Given the description of an element on the screen output the (x, y) to click on. 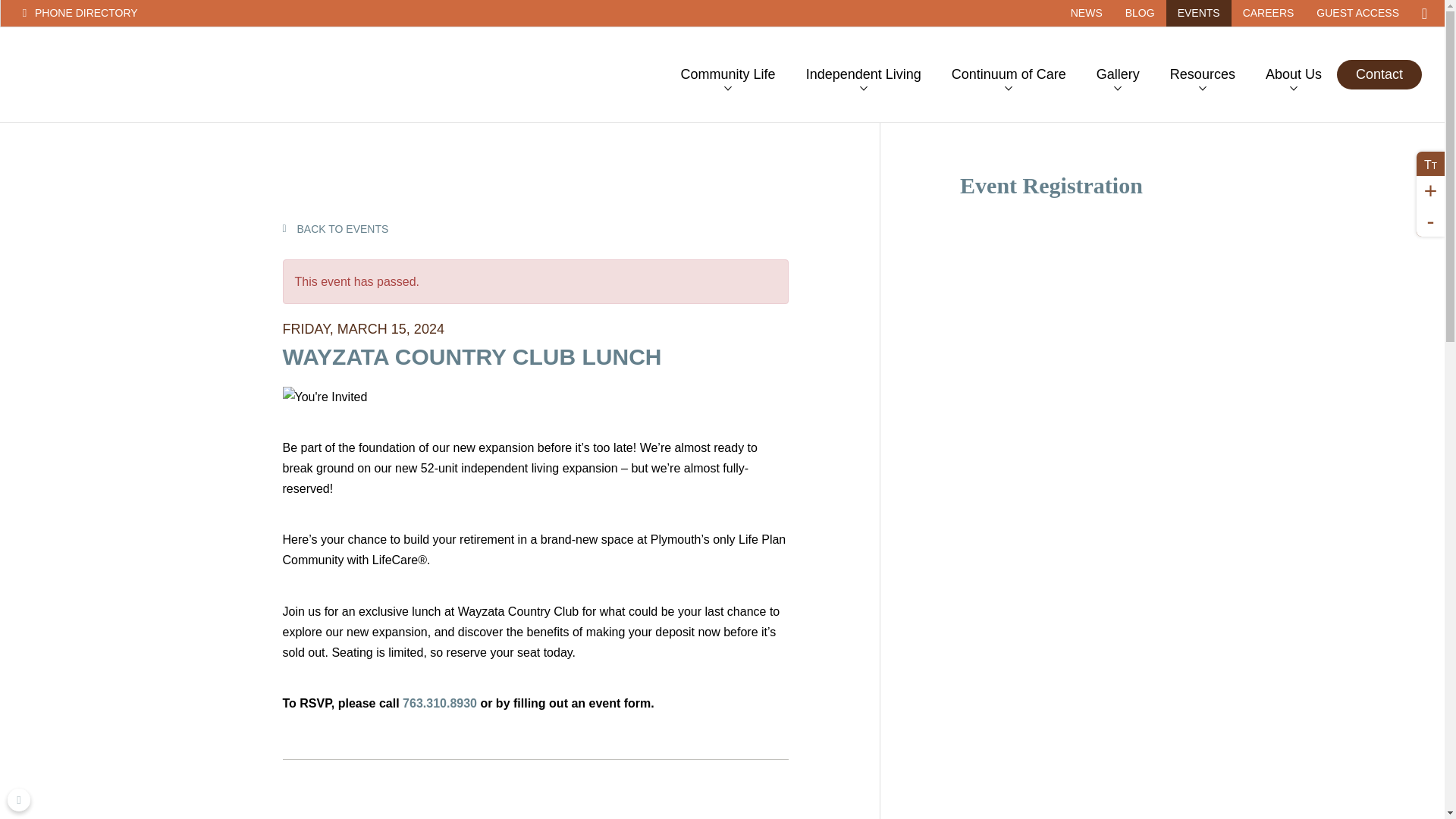
BACK TO EVENTS (335, 228)
PHONE DIRECTORY (132, 13)
BLOG (1139, 13)
Community Life (727, 74)
About Us (1293, 74)
EVENTS (1198, 13)
CAREERS (1268, 13)
Independent Living (863, 74)
Contact (1379, 74)
